Given the description of an element on the screen output the (x, y) to click on. 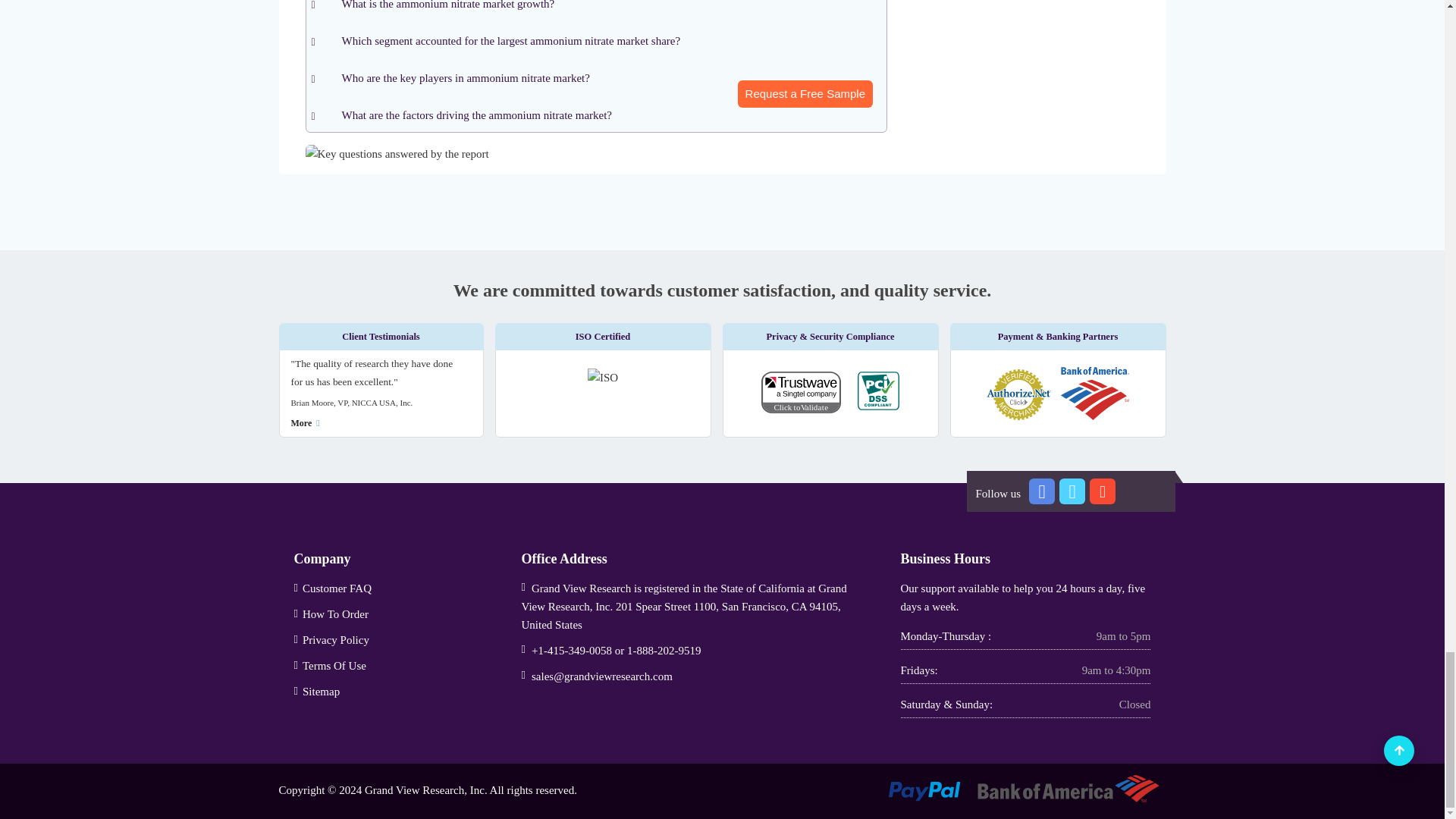
Click to Validate (808, 395)
